Given the description of an element on the screen output the (x, y) to click on. 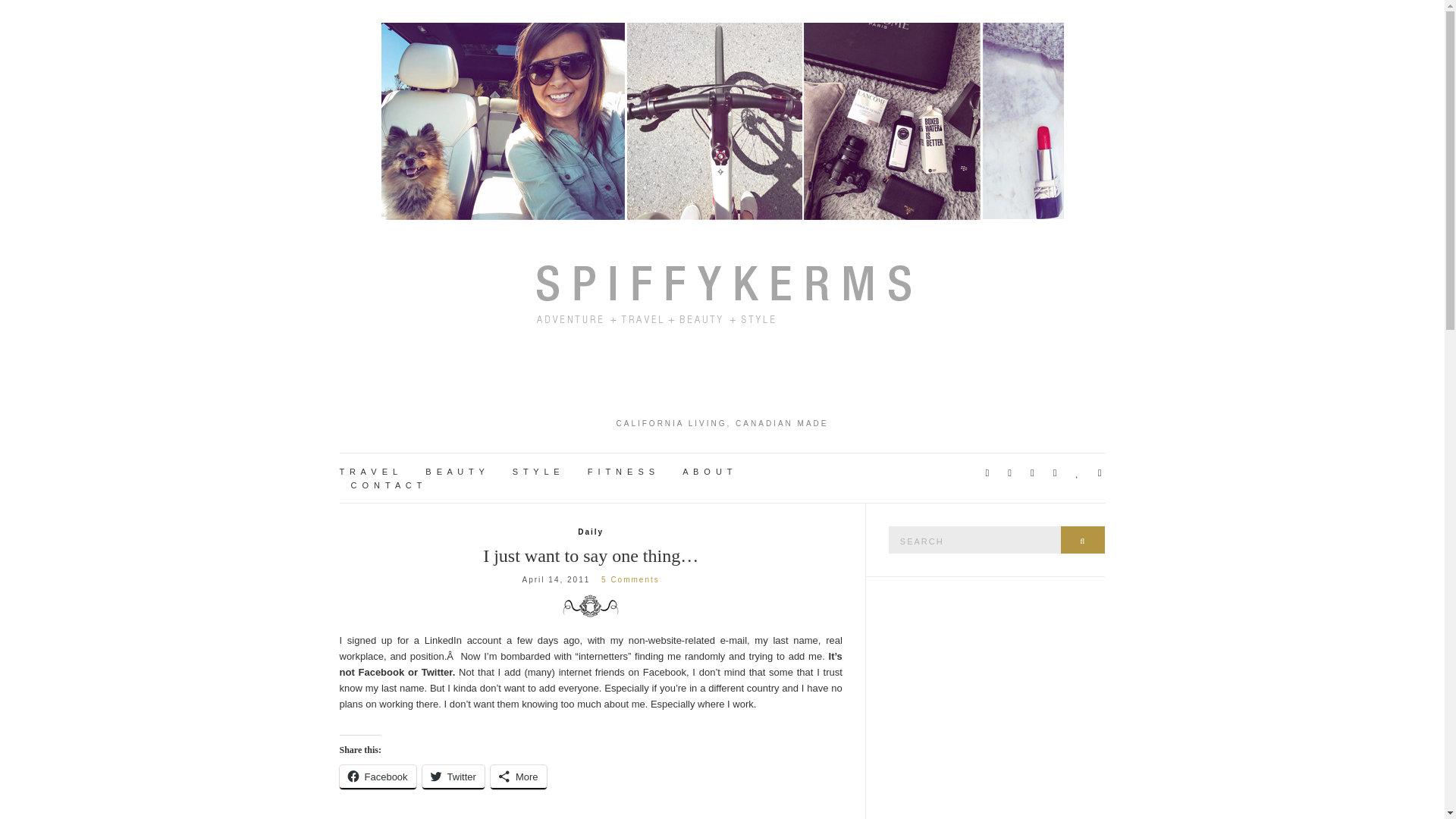
B E A U T Y (454, 472)
T R A V E L (368, 472)
A B O U T (707, 472)
Daily (591, 532)
Click to share on Twitter (453, 776)
5 Comments (630, 579)
Twitter (453, 776)
Click to share on Facebook (377, 776)
S T Y L E (536, 472)
Facebook (377, 776)
